Given the description of an element on the screen output the (x, y) to click on. 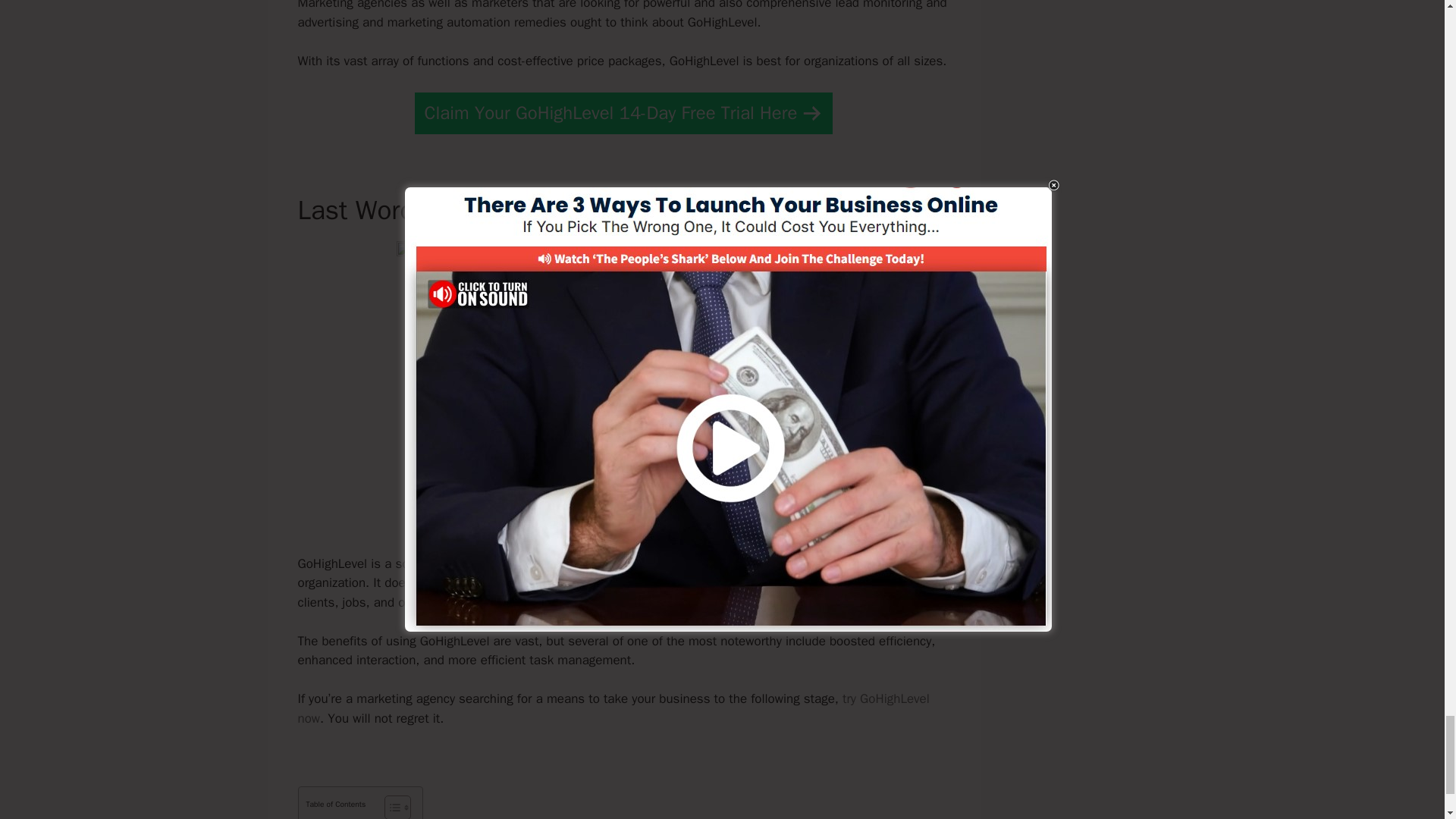
Claim Your GoHighLevel 14-Day Free Trial Here (623, 113)
try GoHighLevel now (612, 708)
